Given the description of an element on the screen output the (x, y) to click on. 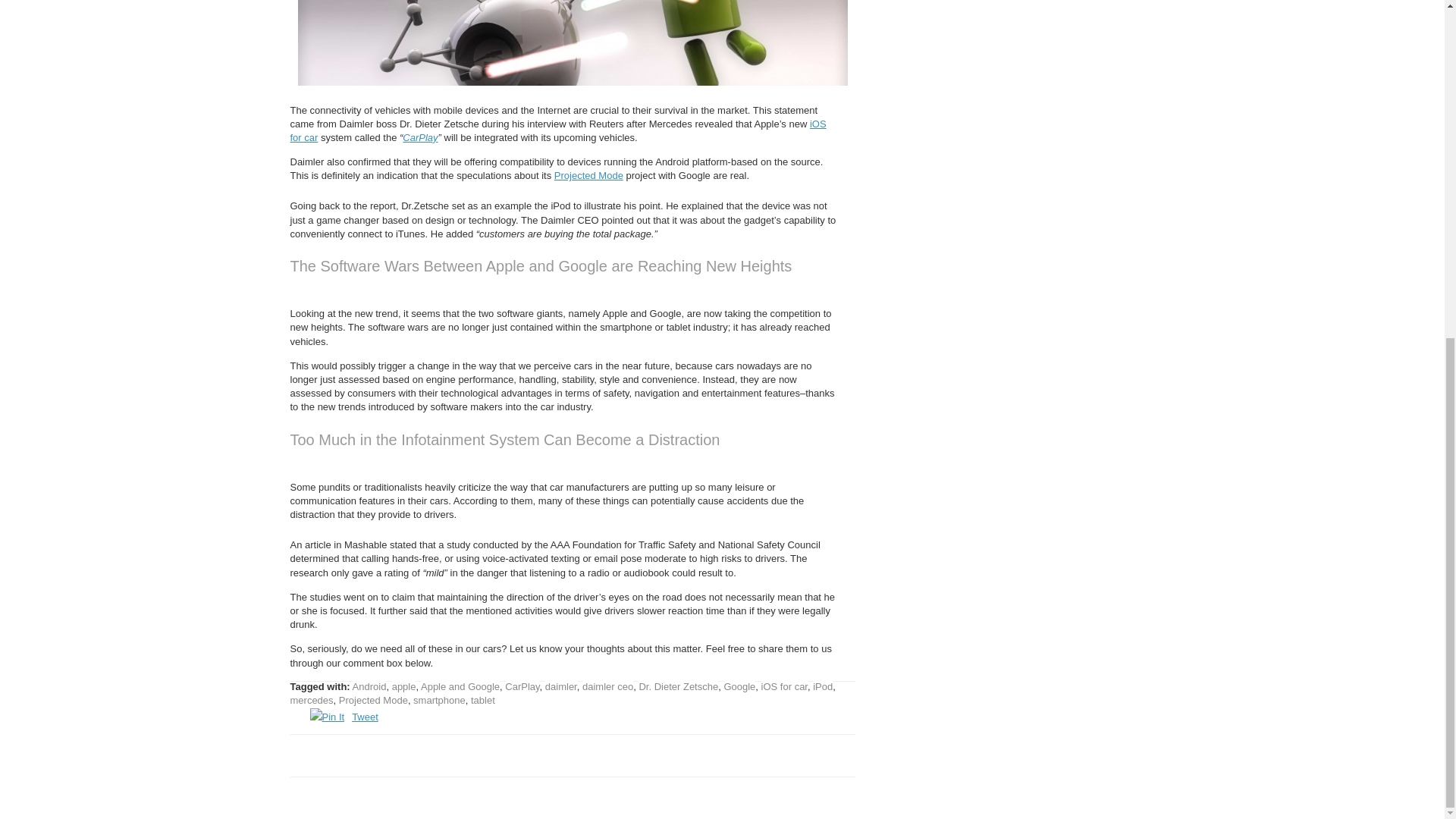
Pin It (325, 716)
